Given the description of an element on the screen output the (x, y) to click on. 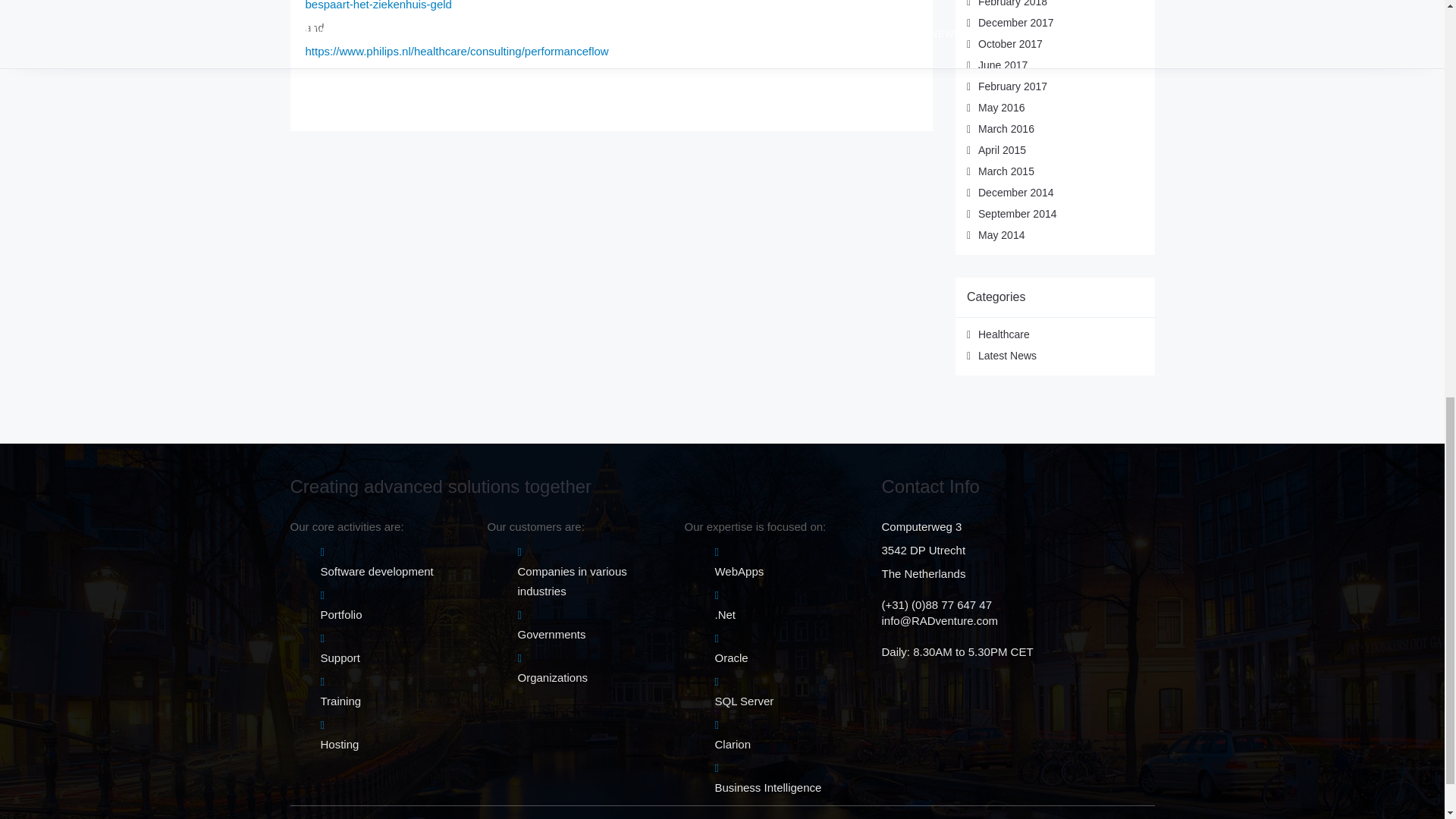
February 2018 (1012, 3)
March 2015 (1005, 171)
February 2017 (1012, 86)
May 2016 (1001, 107)
March 2016 (1005, 128)
April 2015 (1002, 150)
June 2017 (1002, 64)
December 2017 (1016, 22)
October 2017 (1010, 43)
